Given the description of an element on the screen output the (x, y) to click on. 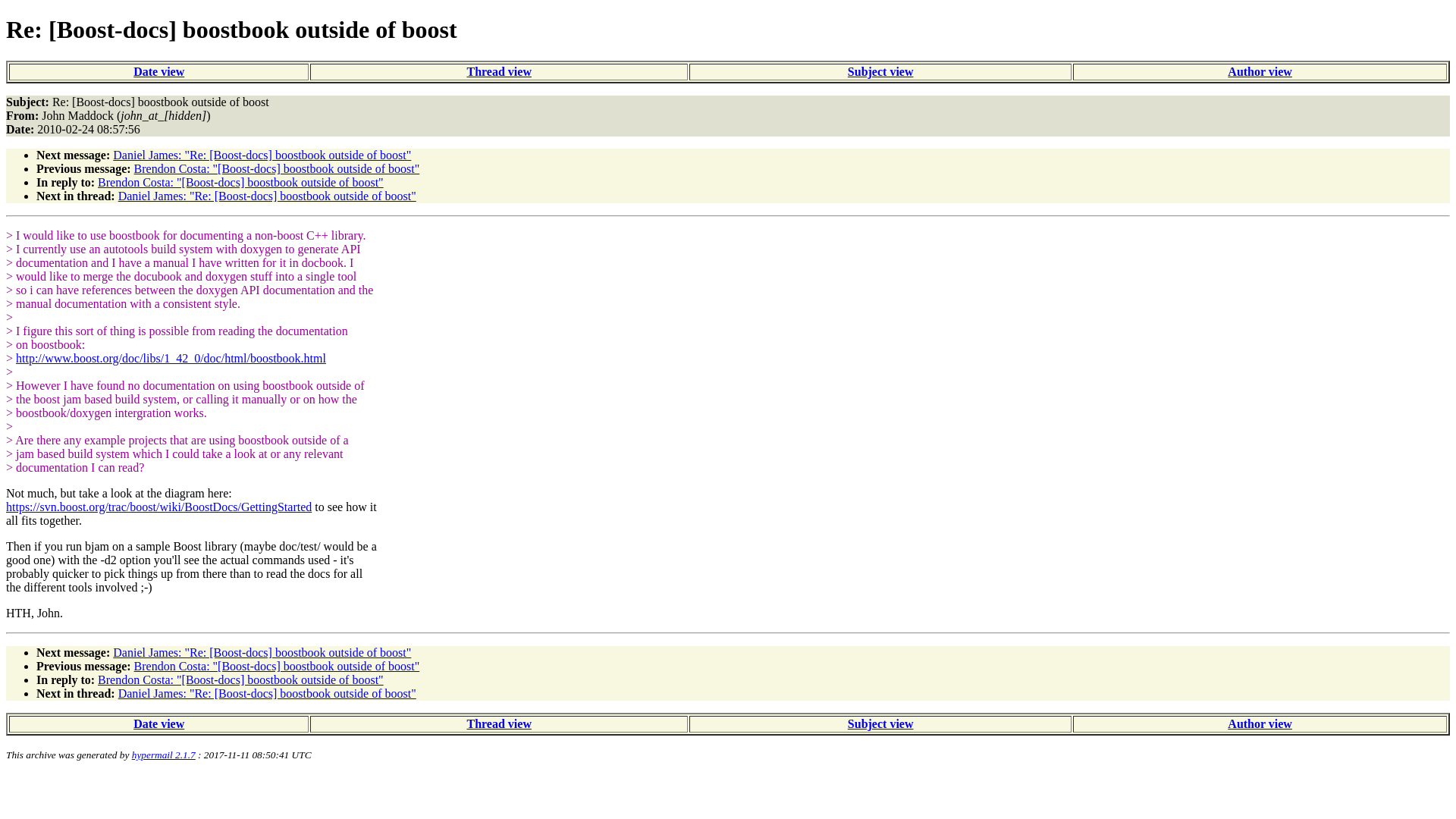
Thread view (498, 71)
Subject view (880, 71)
Thread view (498, 723)
Date view (158, 723)
Author view (1259, 723)
Subject view (880, 723)
Author view (1259, 71)
Date view (158, 71)
